Given the description of an element on the screen output the (x, y) to click on. 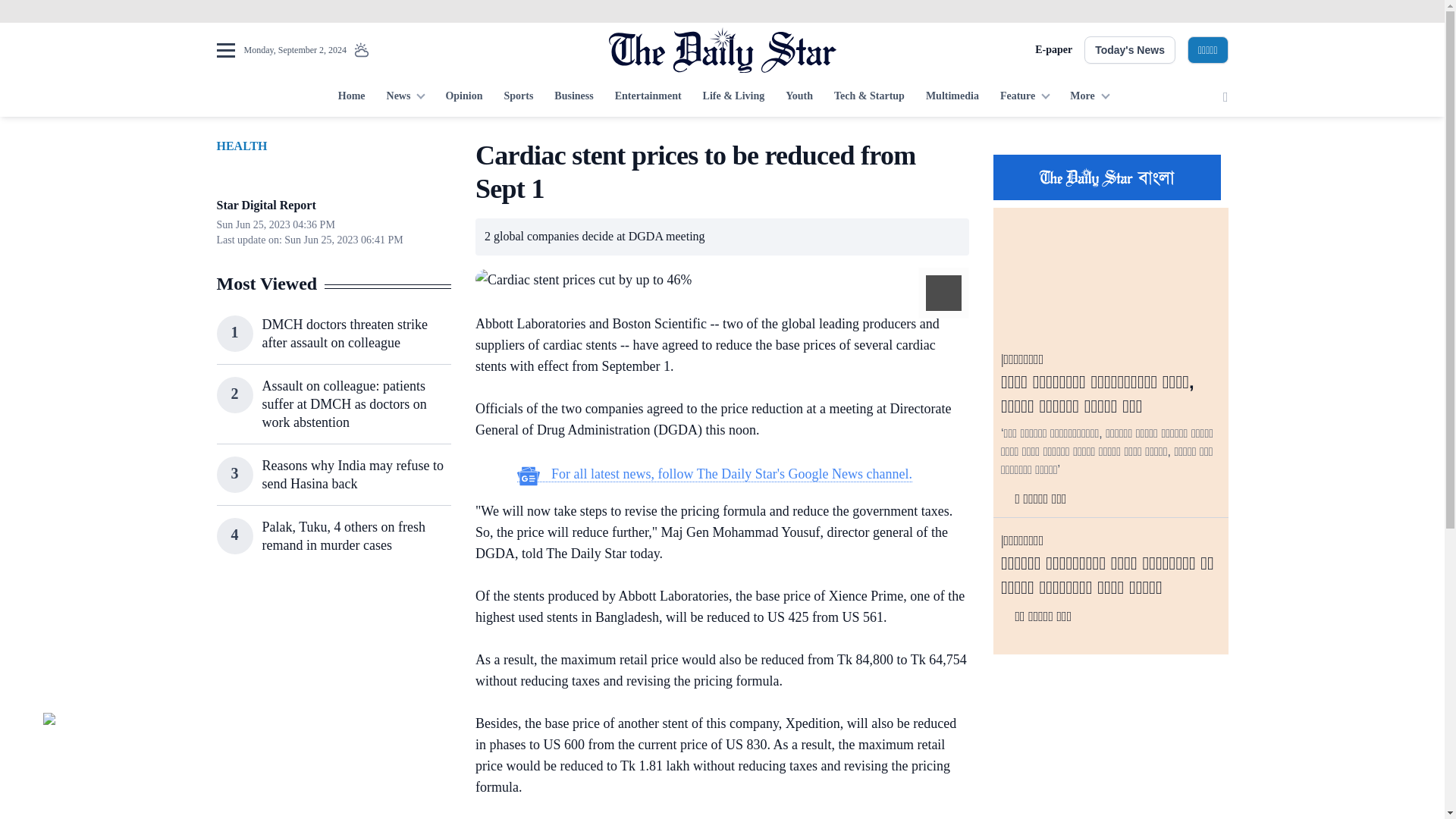
Opinion (463, 96)
Home (351, 96)
Business (573, 96)
Multimedia (952, 96)
News (405, 96)
Sports (518, 96)
Youth (799, 96)
Today's News (1129, 49)
E-paper (1053, 49)
